Given the description of an element on the screen output the (x, y) to click on. 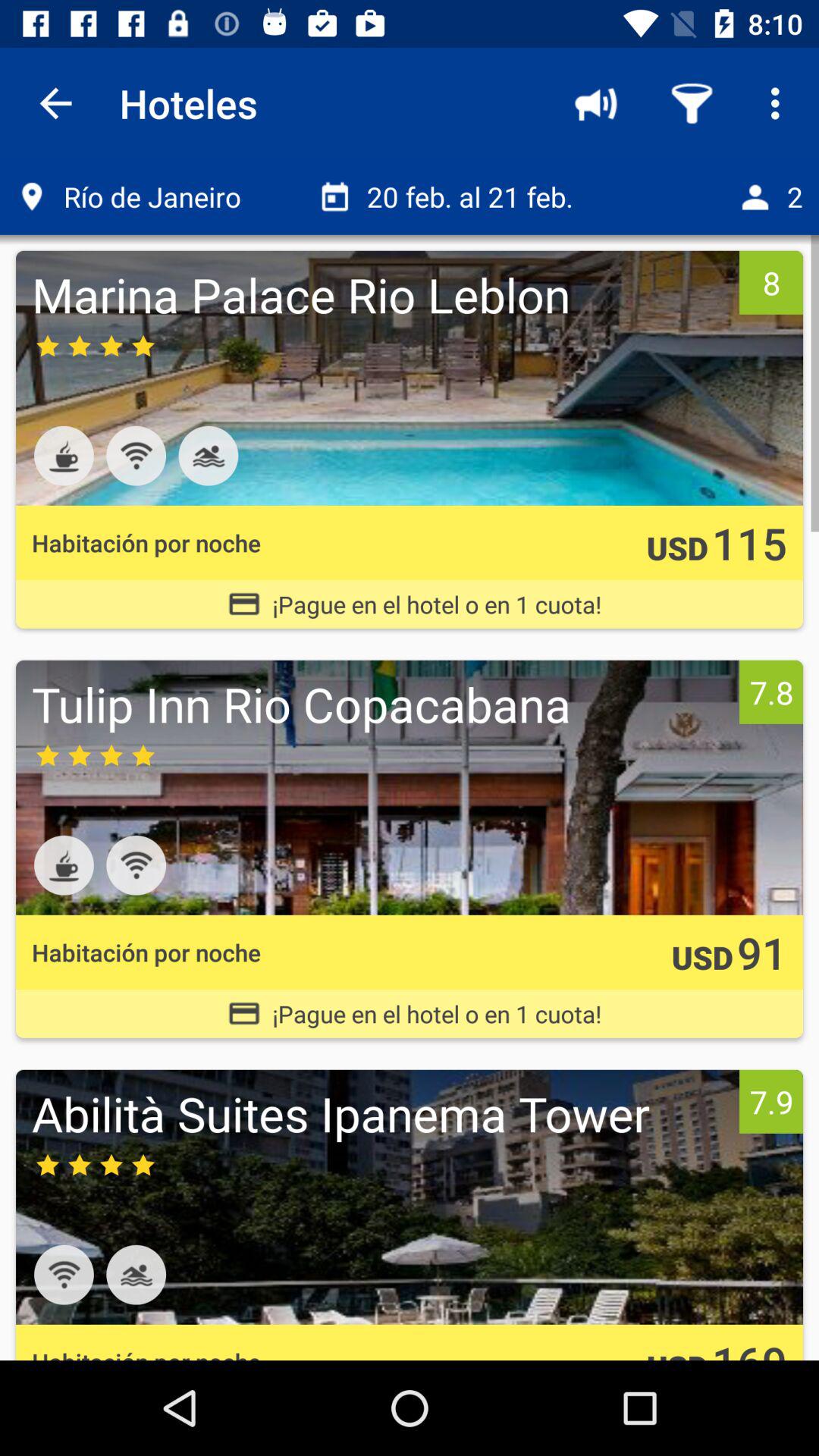
turn off the icon next to usd icon (749, 542)
